Given the description of an element on the screen output the (x, y) to click on. 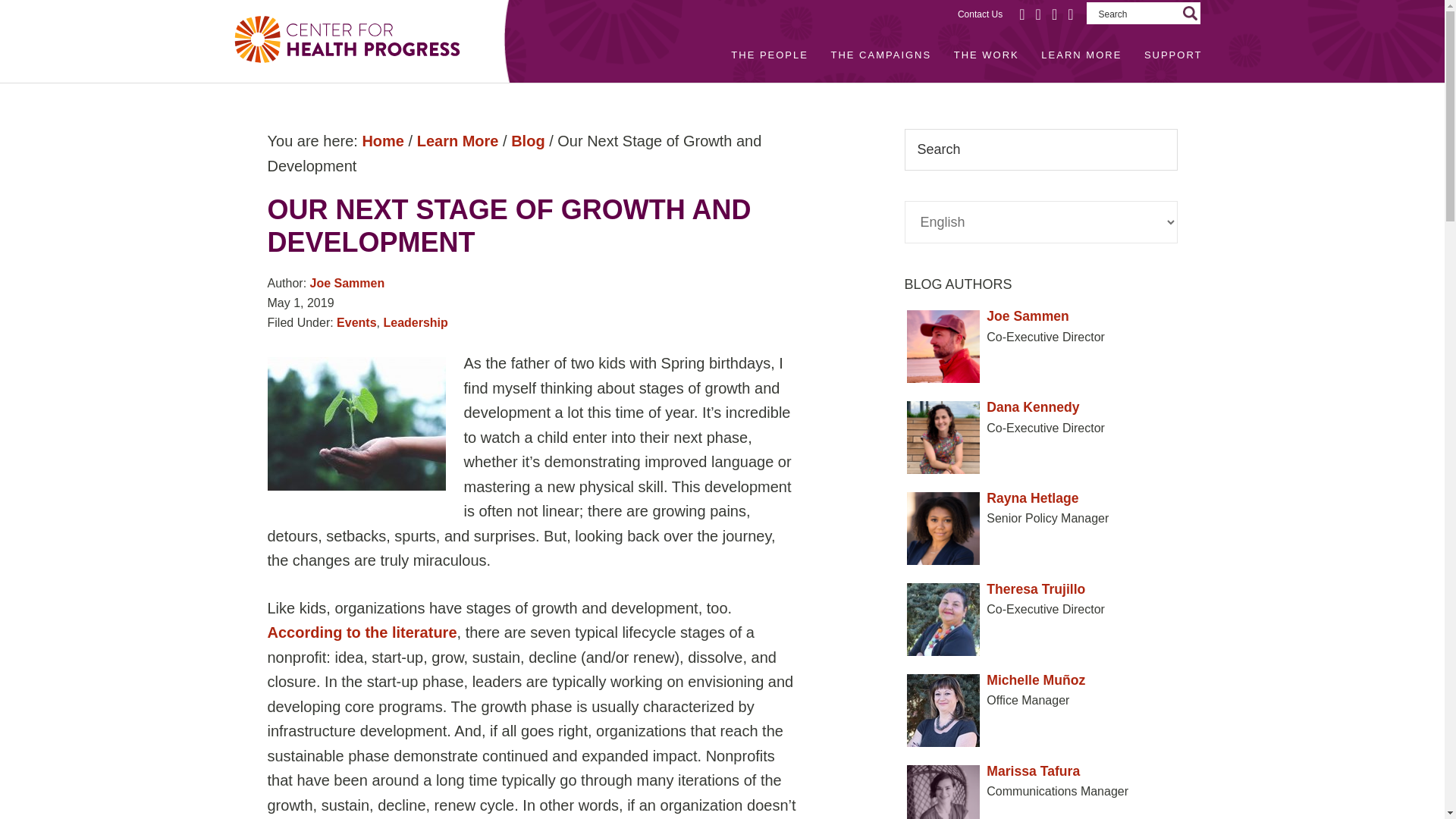
According to the literature (361, 632)
Home (382, 140)
Learn More (457, 140)
Theresa Trujillo (1040, 589)
Rayna Hetlage (1040, 498)
THE CAMPAIGNS (881, 54)
SUPPORT (1173, 54)
LEARN MORE (1081, 54)
Dana Kennedy (1040, 407)
Marissa Tafura (1040, 771)
Joe Sammen (347, 282)
THE PEOPLE (769, 54)
Leadership (414, 322)
Blog (527, 140)
Search (1192, 15)
